Given the description of an element on the screen output the (x, y) to click on. 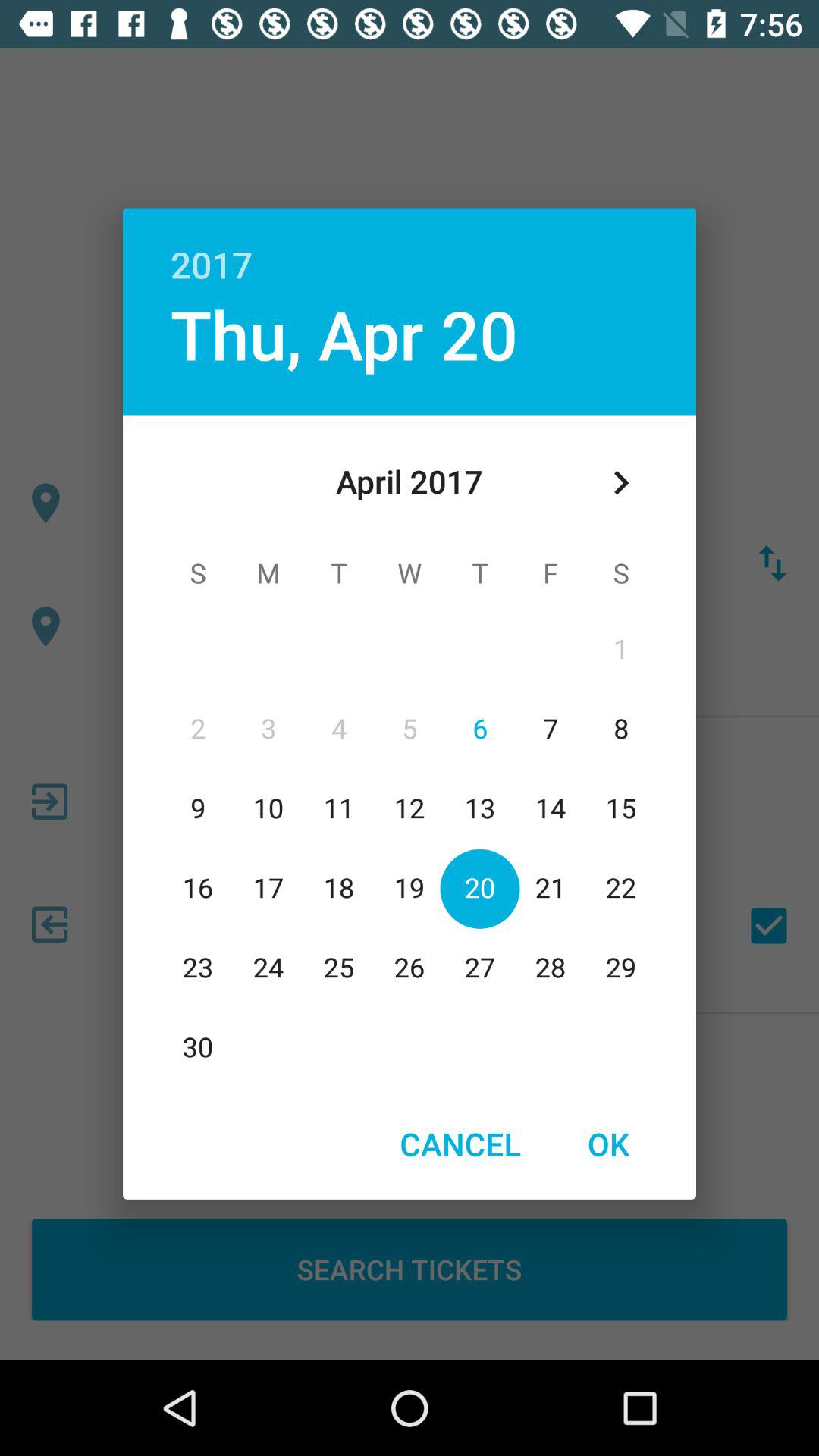
scroll to 2017 (409, 248)
